Given the description of an element on the screen output the (x, y) to click on. 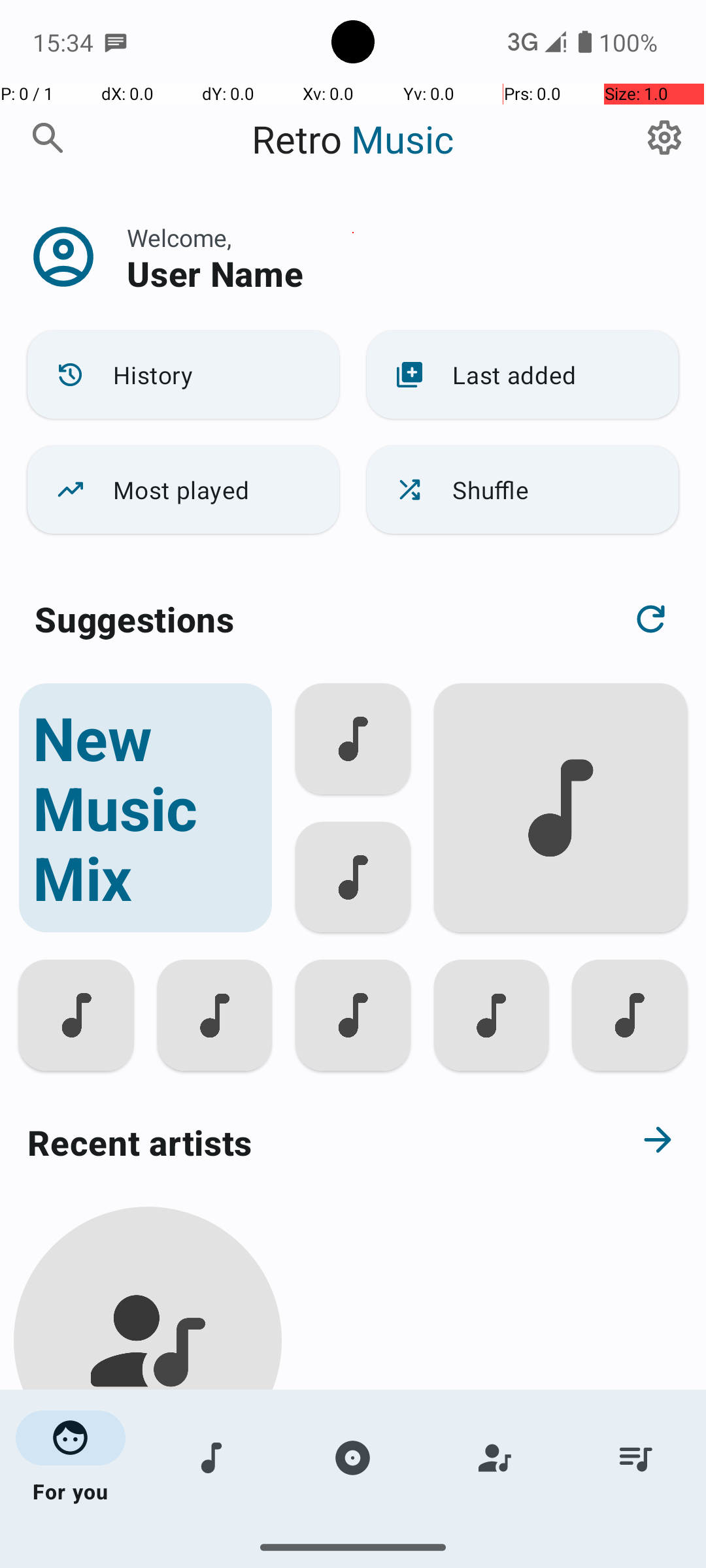
Retro Music Element type: android.widget.TextView (352, 138)
For you Element type: android.widget.FrameLayout (70, 1457)
Songs Element type: android.widget.FrameLayout (211, 1457)
Albums Element type: android.widget.FrameLayout (352, 1457)
Artists Element type: android.widget.FrameLayout (493, 1457)
Playlists Element type: android.widget.FrameLayout (635, 1457)
Welcome, Element type: android.widget.TextView (179, 237)
User Name Element type: android.widget.TextView (214, 273)
Last added Element type: android.widget.Button (522, 374)
Most played Element type: android.widget.Button (183, 489)
Shuffle Element type: android.widget.Button (522, 489)
Suggestions Element type: android.widget.TextView (134, 618)
New Music Mix Element type: android.widget.TextView (144, 807)
Recent artists Element type: android.widget.TextView (304, 1141)
Recent albums Element type: android.widget.TextView (304, 1557)
Victoria Element type: android.widget.TextView (147, 1503)
